Given the description of an element on the screen output the (x, y) to click on. 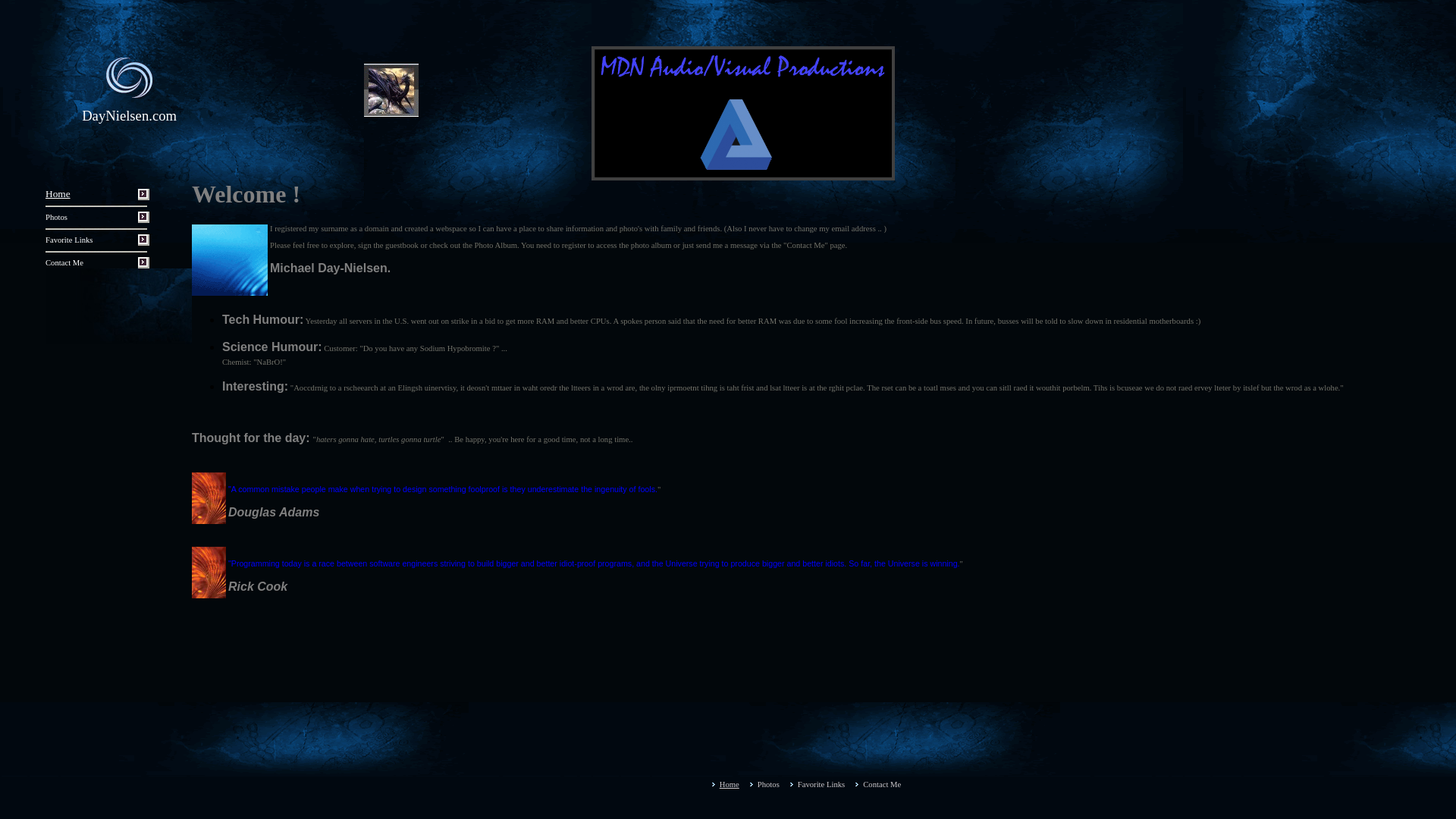
Favorite Links (69, 239)
Contact Me (882, 784)
Favorite Links (820, 784)
Home (729, 784)
Photos (55, 216)
Photos (767, 784)
Contact Me (63, 262)
Home (57, 193)
